Given the description of an element on the screen output the (x, y) to click on. 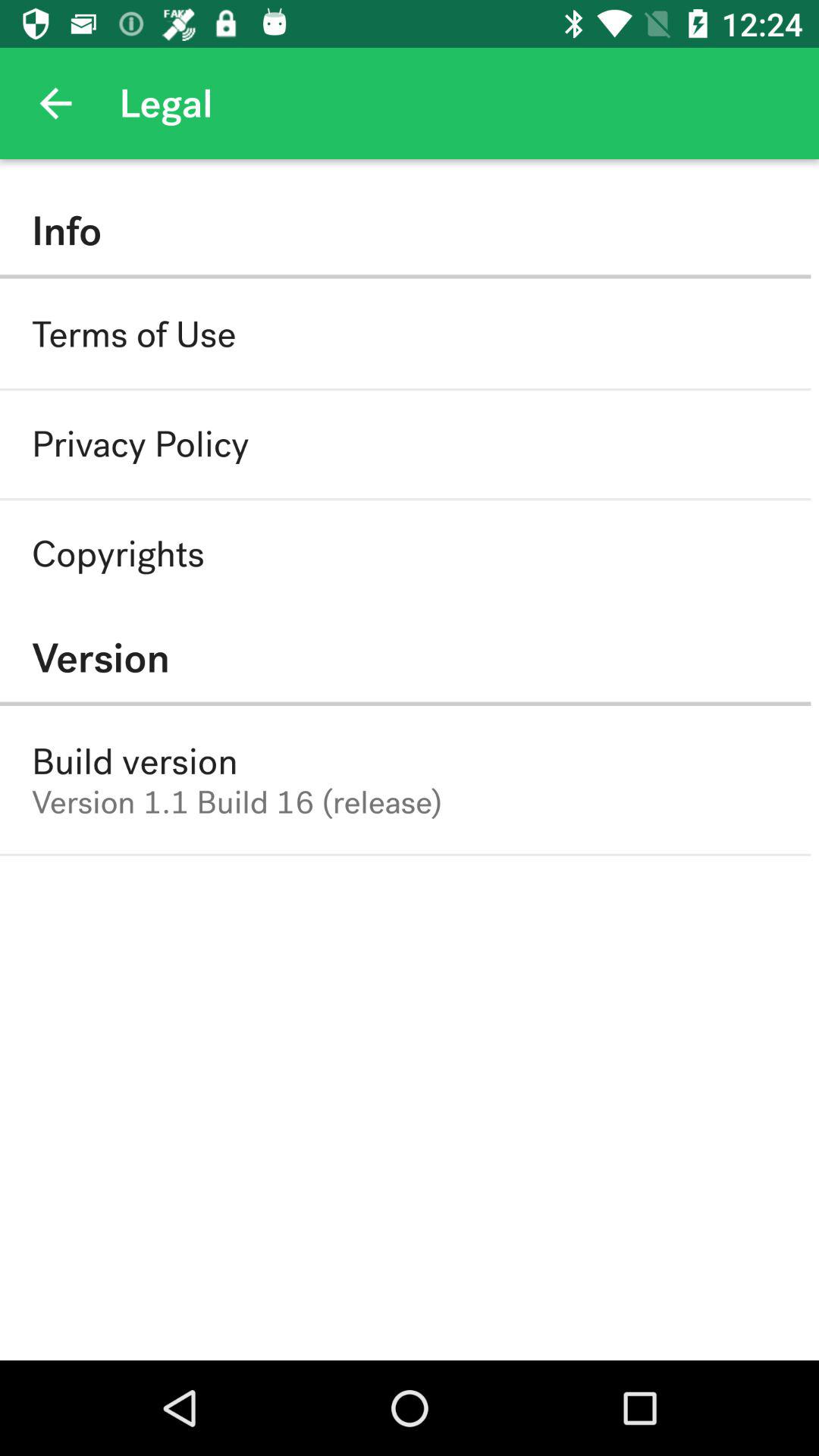
press the copyrights item (117, 554)
